Given the description of an element on the screen output the (x, y) to click on. 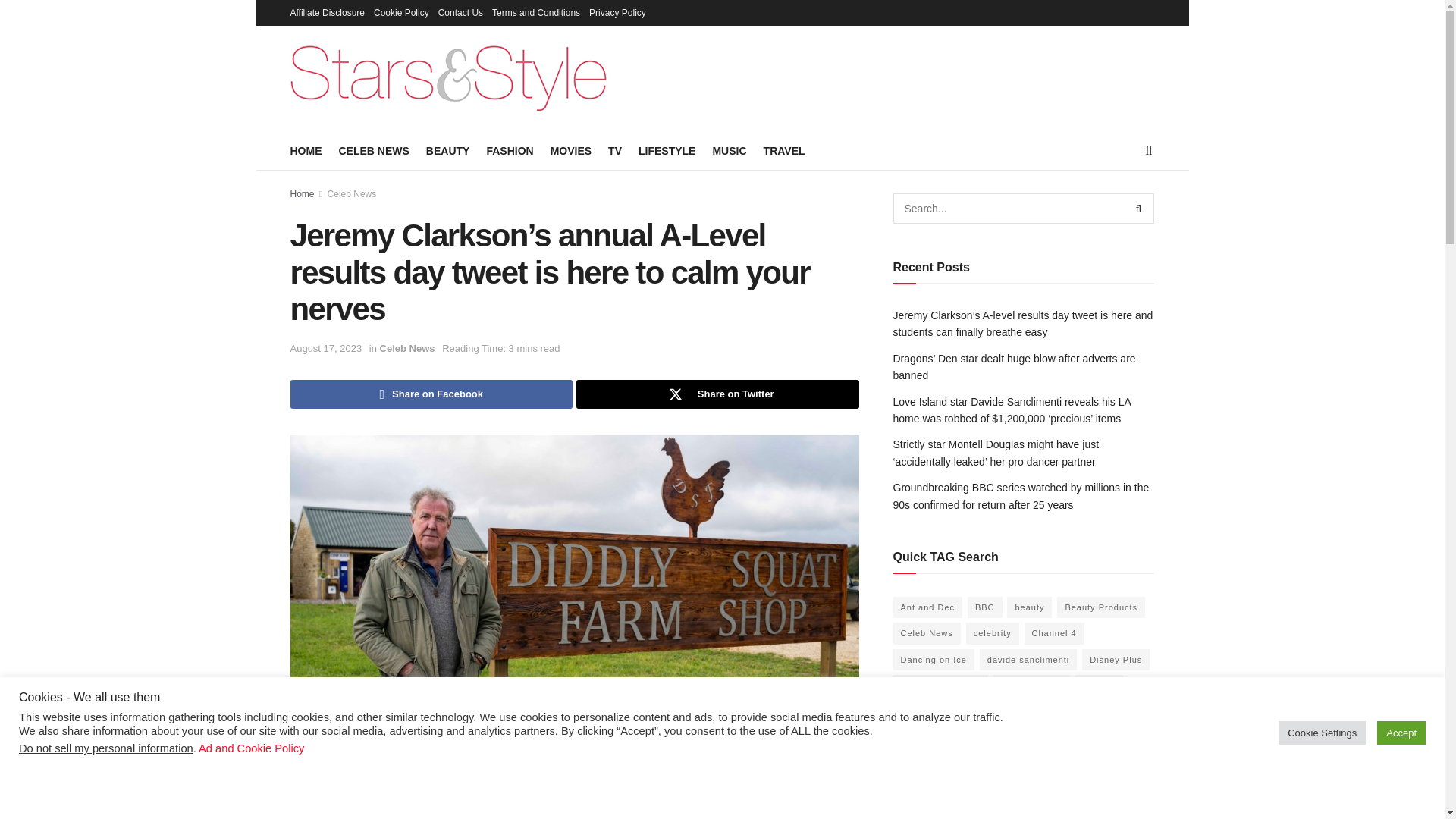
TRAVEL (783, 150)
Celeb News (352, 194)
MUSIC (728, 150)
Affiliate Disclosure (326, 12)
MOVIES (570, 150)
FASHION (509, 150)
Cookie Policy (401, 12)
Amazon Prime (588, 767)
Celeb News (407, 348)
Share on Facebook (430, 394)
